Given the description of an element on the screen output the (x, y) to click on. 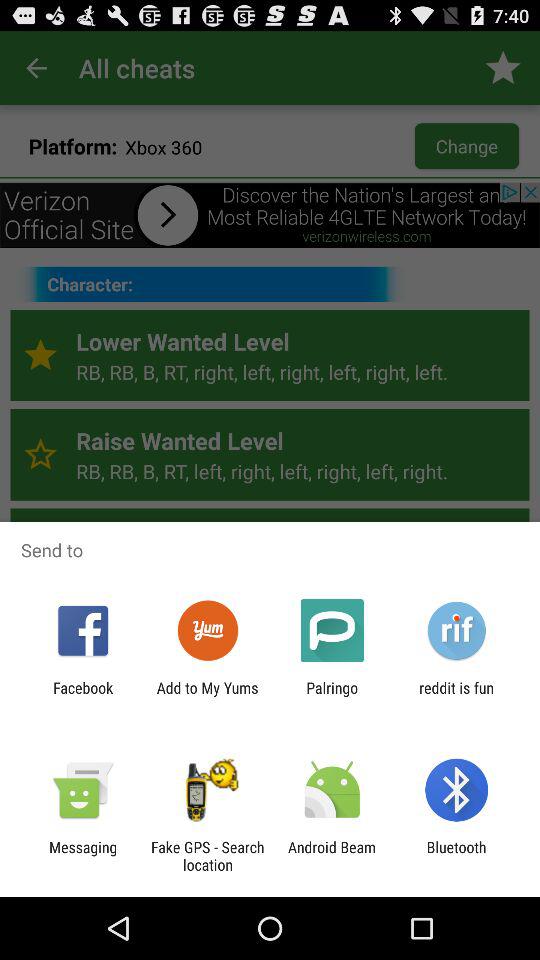
select app to the right of the android beam (456, 856)
